Given the description of an element on the screen output the (x, y) to click on. 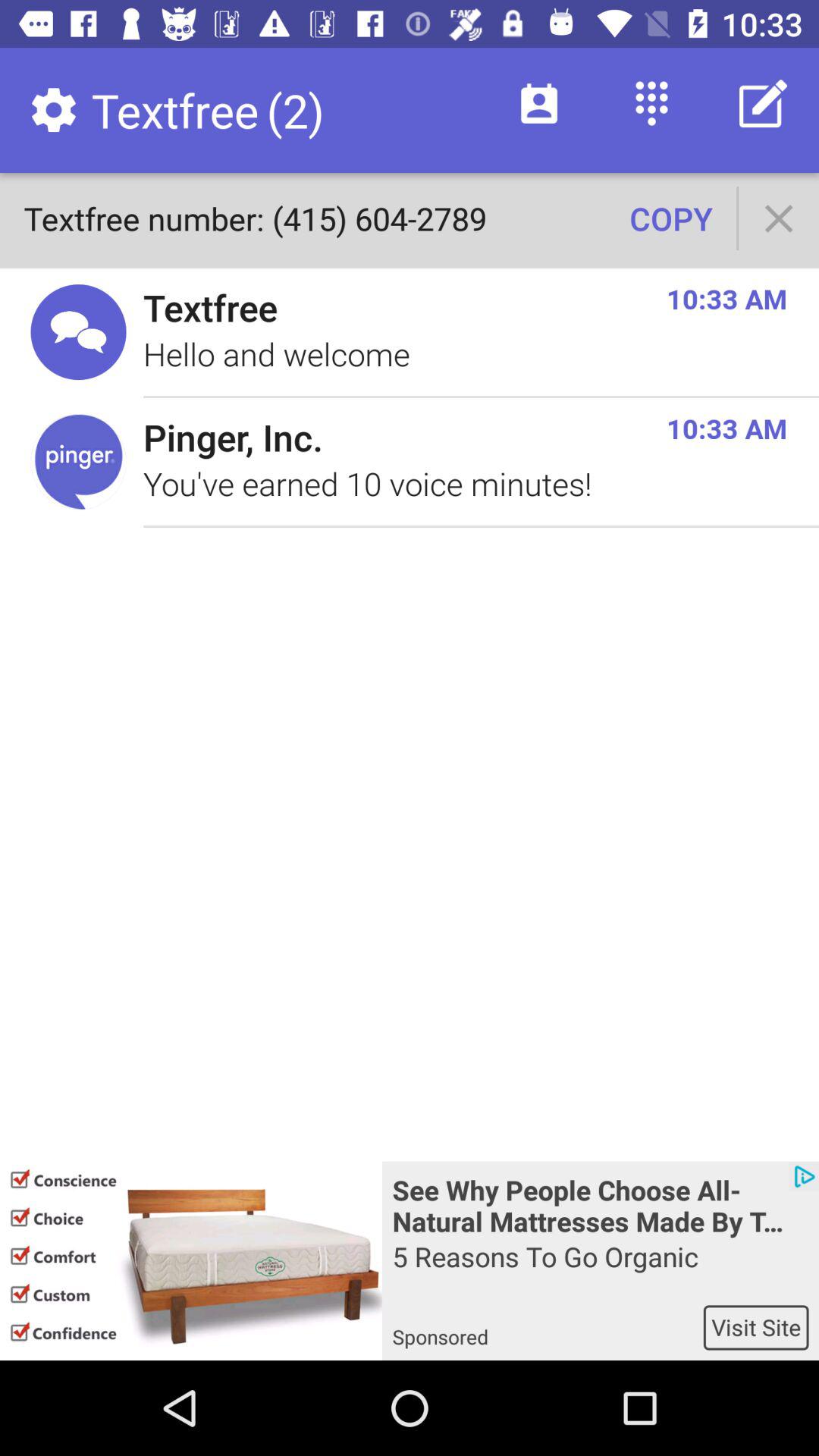
click on the icon which is left to the text textfree (78, 331)
